Given the description of an element on the screen output the (x, y) to click on. 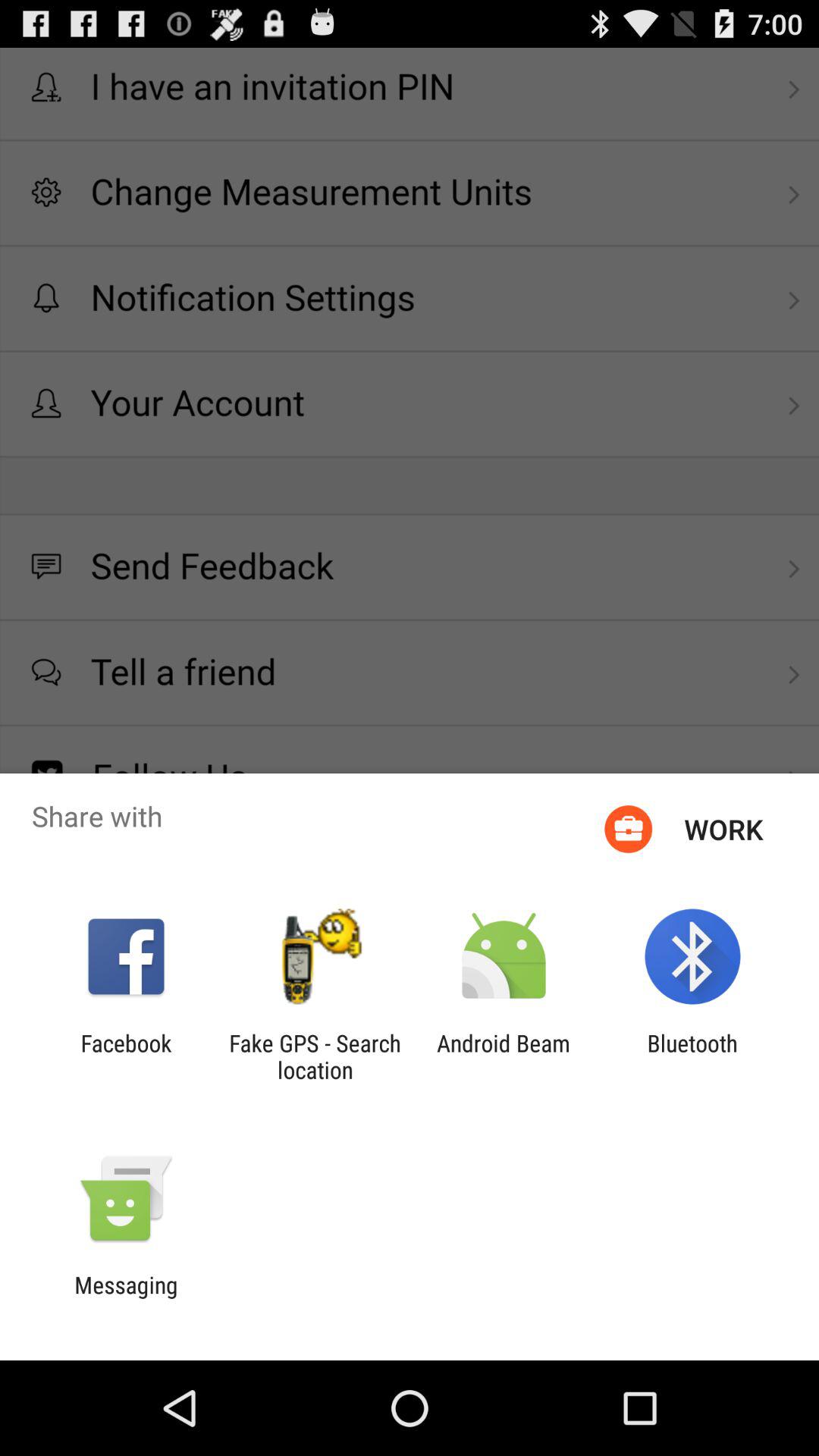
turn off the icon at the bottom right corner (692, 1056)
